Given the description of an element on the screen output the (x, y) to click on. 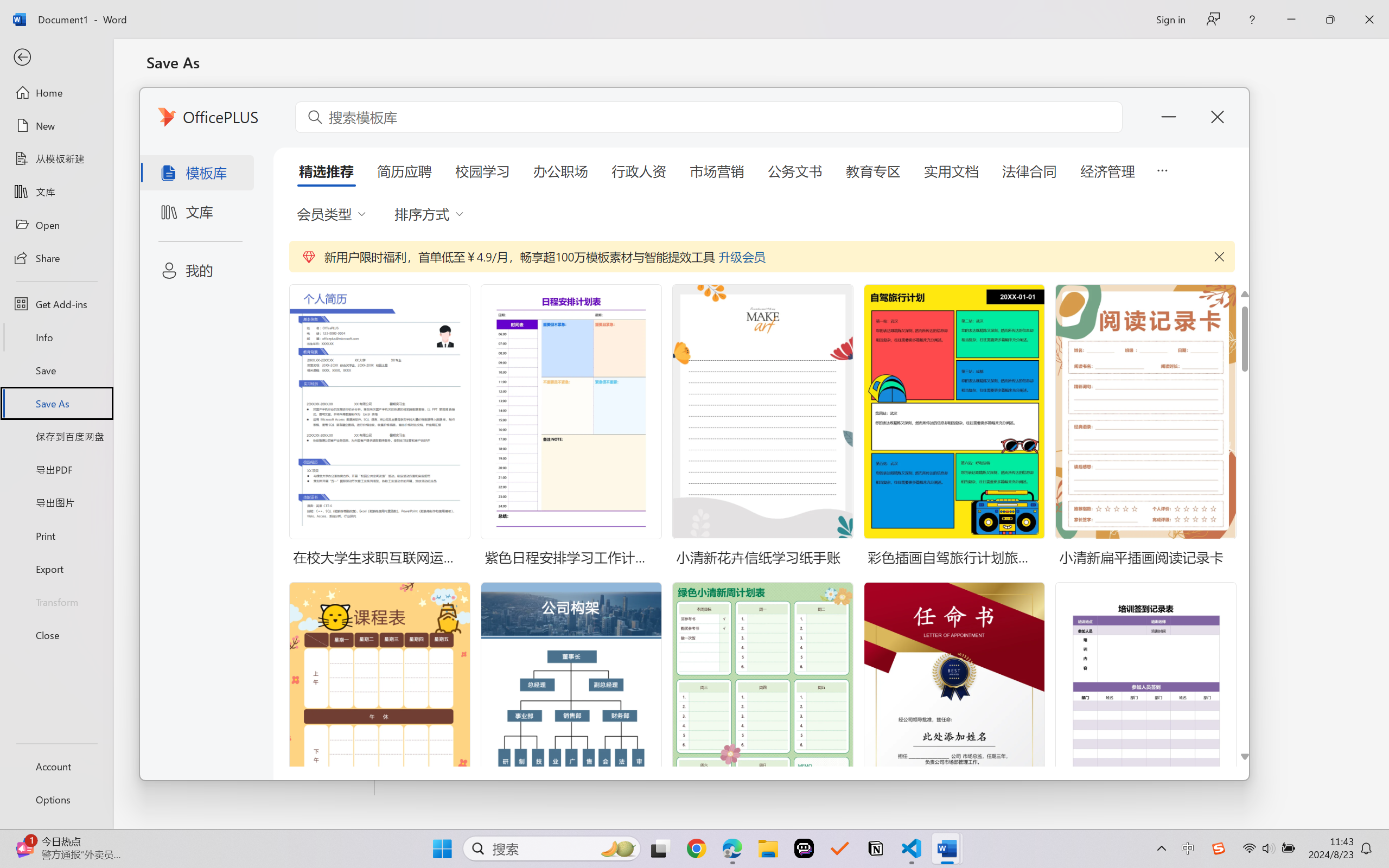
OneDrive (261, 147)
Export (56, 568)
Save As (56, 403)
Sign in (1170, 18)
Options (56, 798)
